Given the description of an element on the screen output the (x, y) to click on. 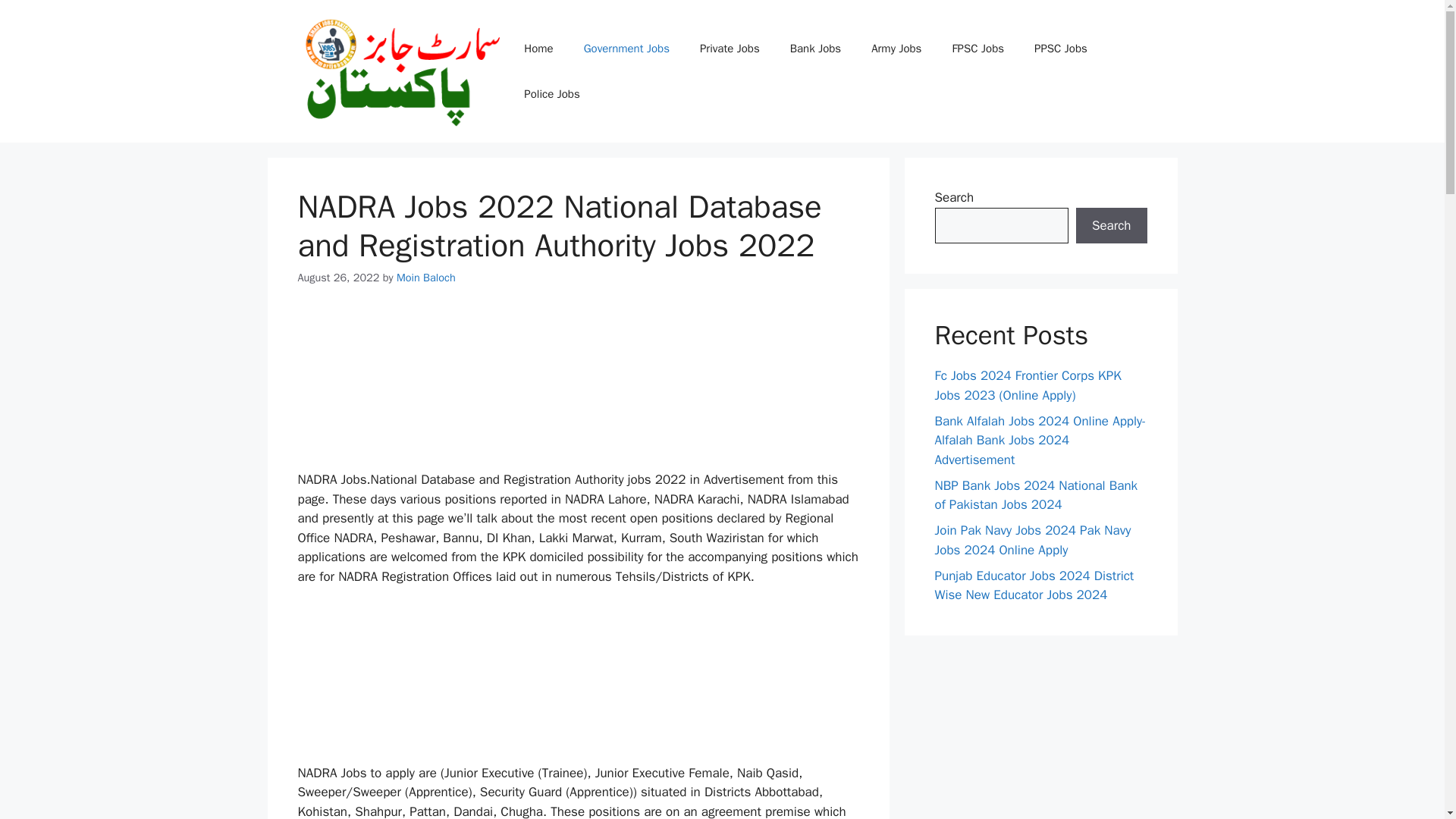
Government Jobs (626, 48)
FPSC Jobs (977, 48)
Private Jobs (729, 48)
PPSC Jobs (1060, 48)
Join Pak Navy Jobs 2024 Pak Navy Jobs 2024 Online Apply (1032, 539)
Search (1111, 226)
Army Jobs (896, 48)
Bank Jobs (815, 48)
NBP Bank Jobs 2024 National Bank of Pakistan Jobs 2024 (1035, 495)
Home (537, 48)
Police Jobs (551, 94)
View all posts by Moin Baloch (425, 277)
Moin Baloch (425, 277)
